Given the description of an element on the screen output the (x, y) to click on. 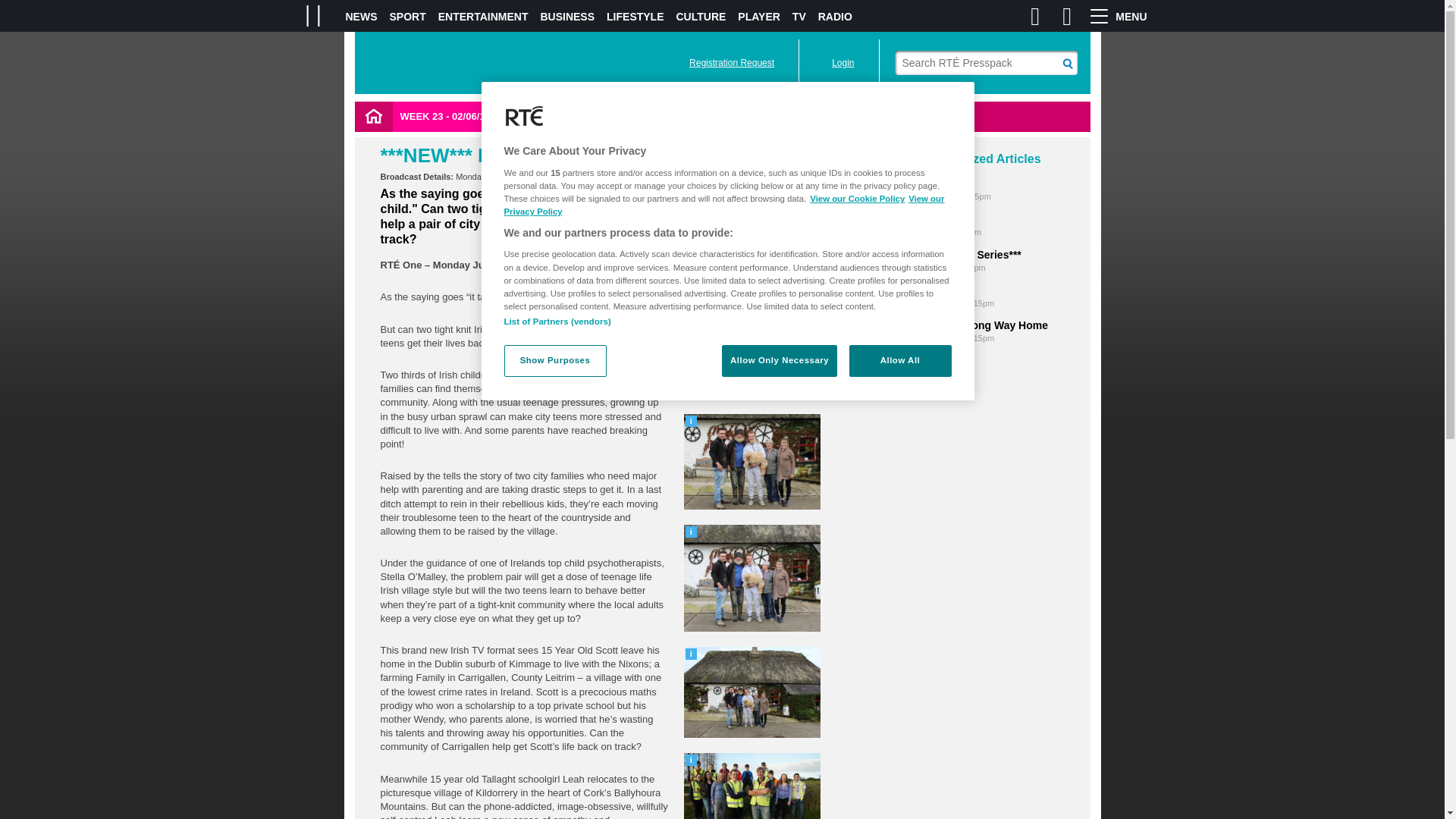
RADIO (834, 16)
SPORT (408, 16)
NEWS (361, 16)
TV (799, 16)
ENTERTAINMENT (483, 16)
CULTURE (701, 16)
PLAYER (759, 16)
LIFESTYLE (635, 16)
BUSINESS (567, 16)
